Given the description of an element on the screen output the (x, y) to click on. 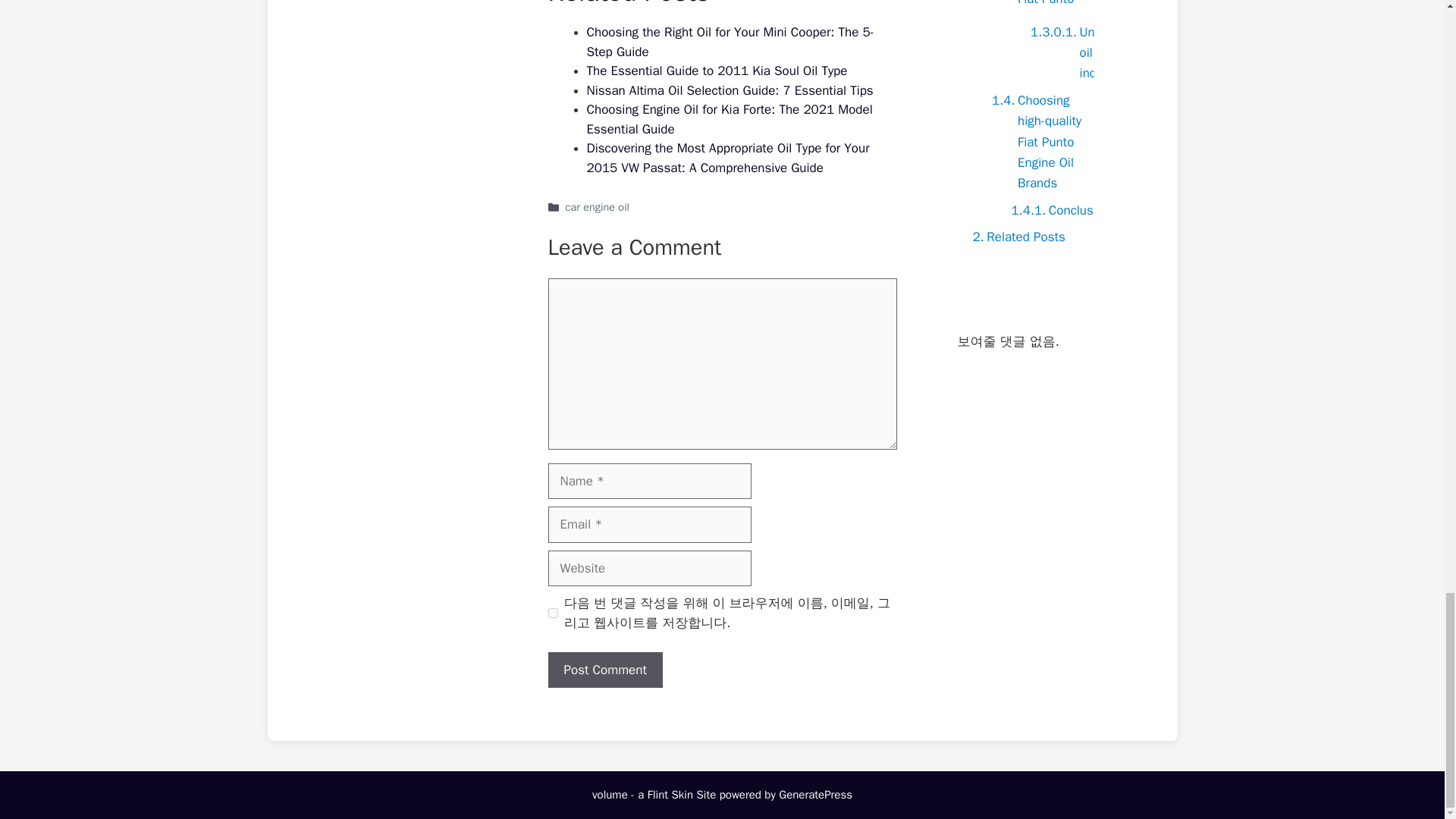
Post Comment (604, 669)
car engine oil (597, 206)
yes (552, 613)
Post Comment (604, 669)
The Essential Guide to 2011 Kia Soul Oil Type (716, 70)
Nissan Altima Oil Selection Guide: 7 Essential Tips (729, 90)
